Given the description of an element on the screen output the (x, y) to click on. 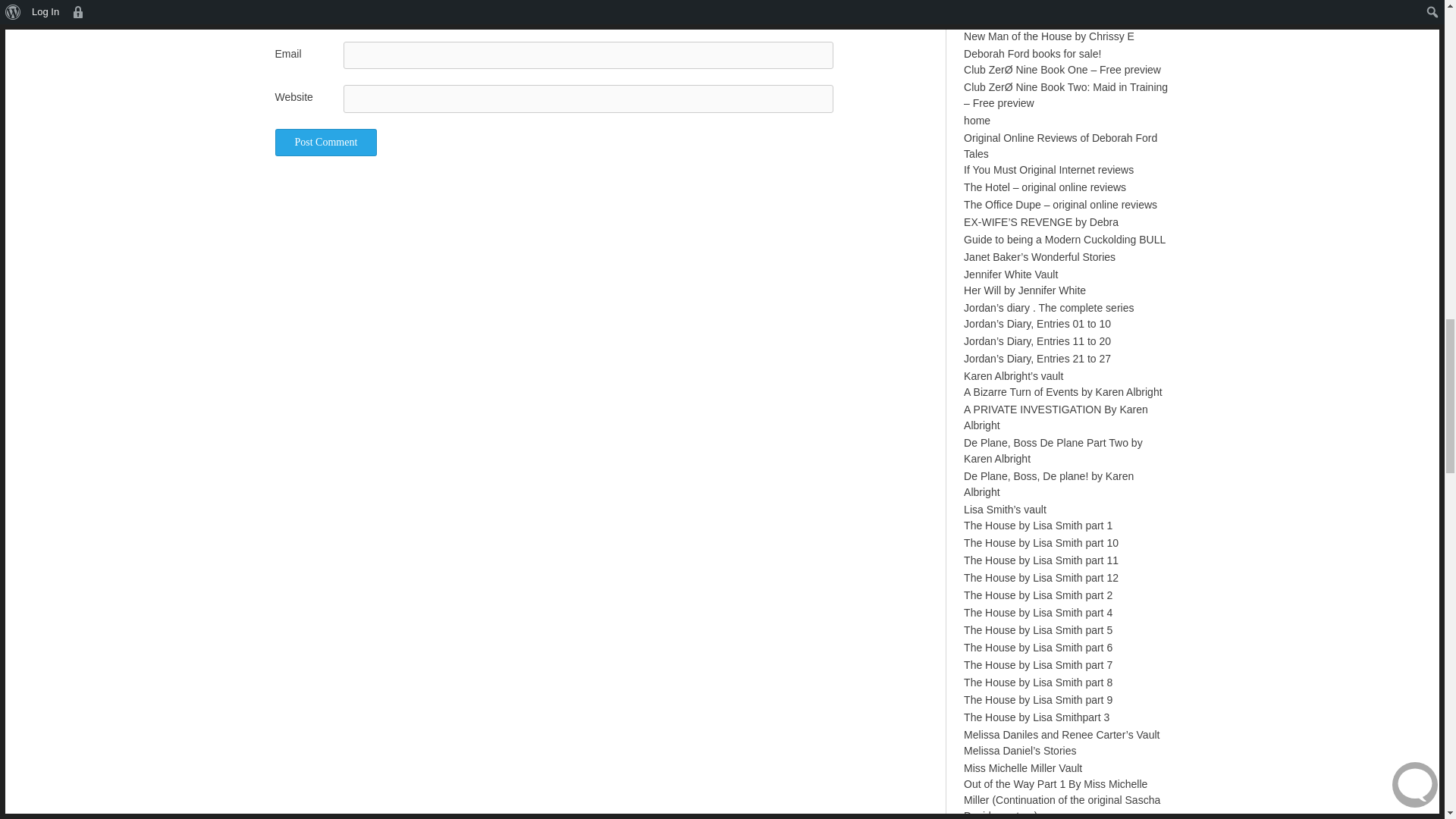
Post Comment (326, 142)
Post Comment (326, 142)
